Given the description of an element on the screen output the (x, y) to click on. 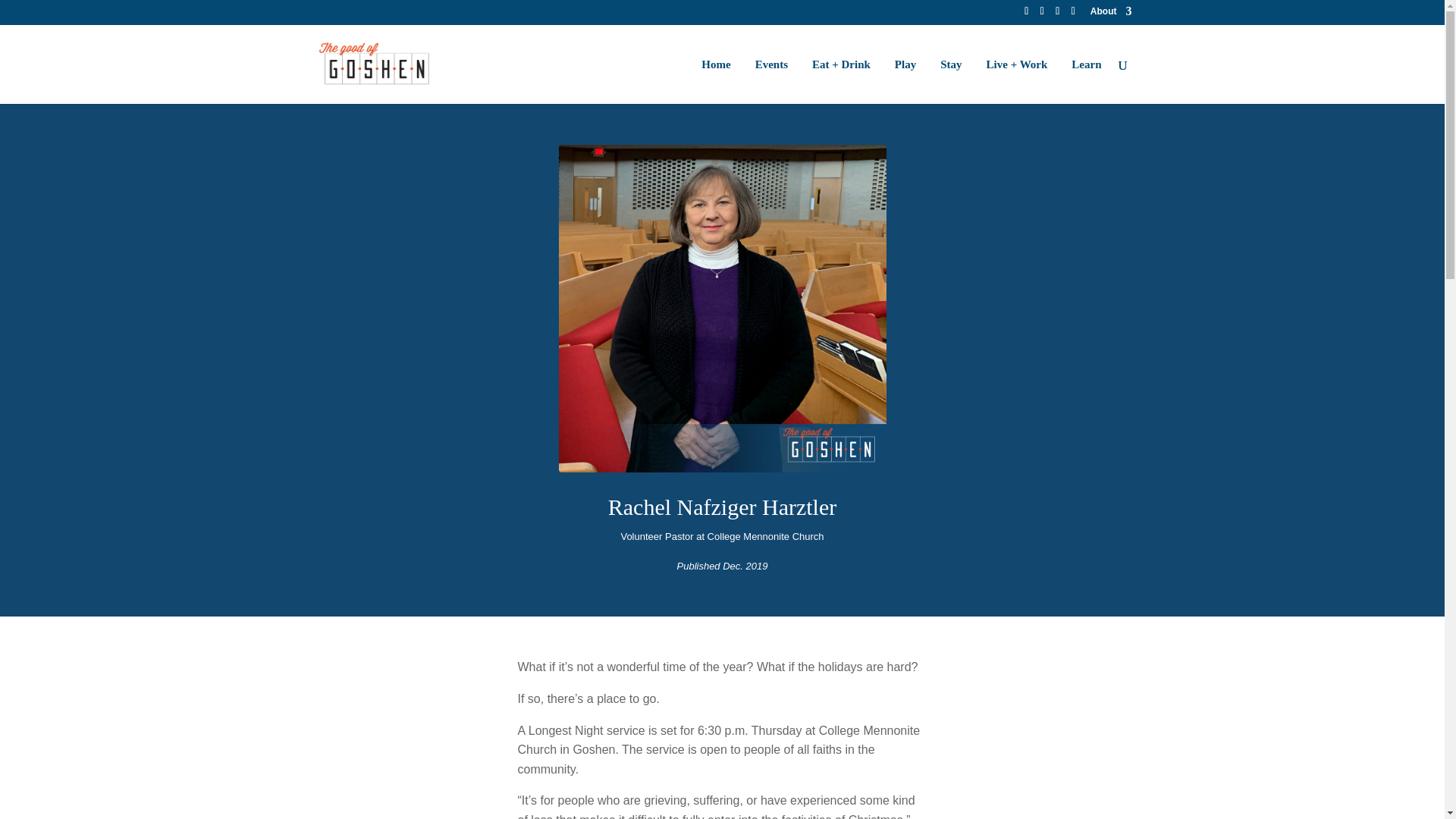
About (1111, 14)
